Given the description of an element on the screen output the (x, y) to click on. 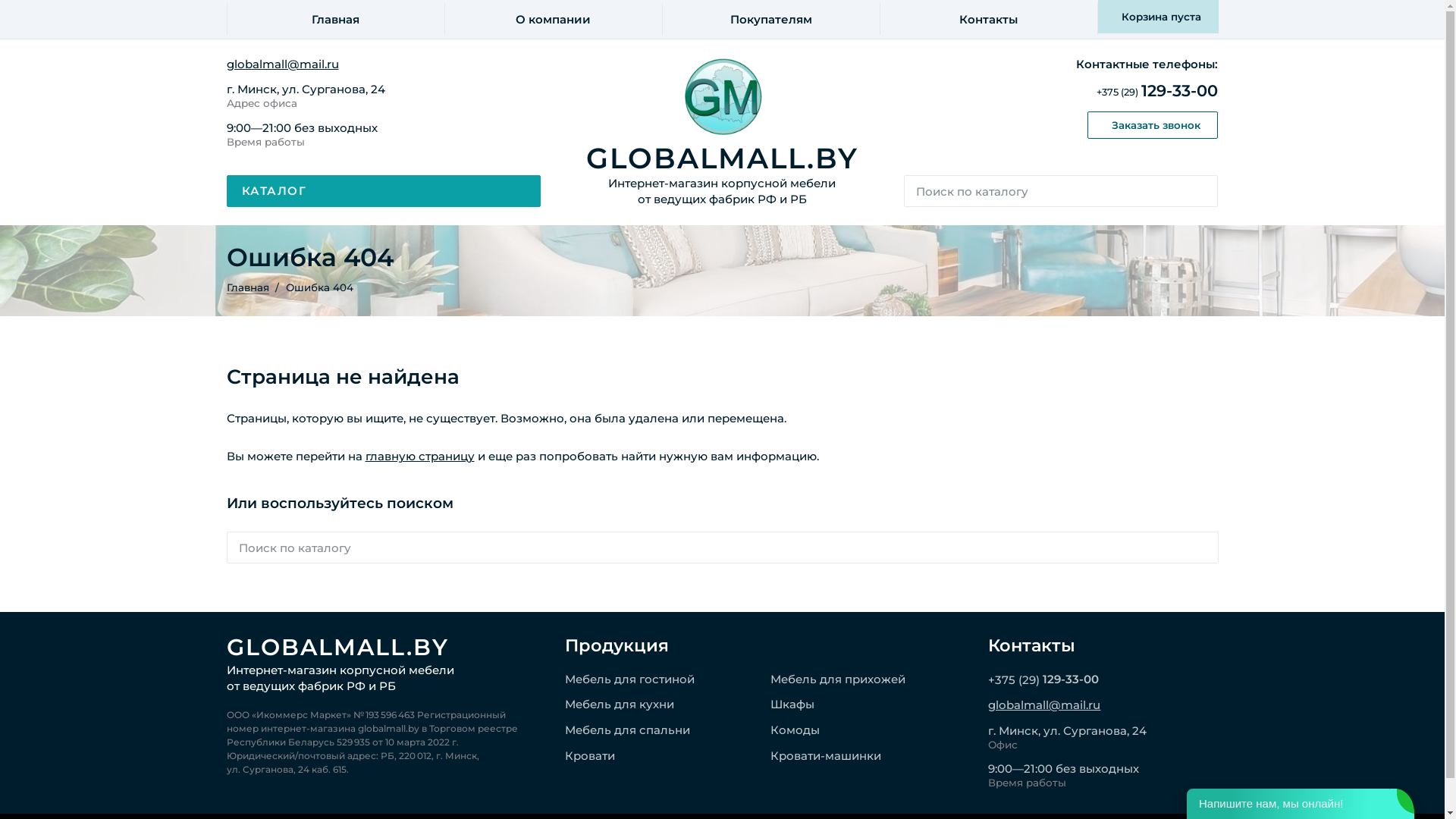
globalmall@mail.ru Element type: text (382, 64)
+375 (29) 129-33-00 Element type: text (1102, 679)
globalmall@mail.ru Element type: text (1102, 705)
+375 (29) 129-33-00 Element type: text (1060, 91)
